Given the description of an element on the screen output the (x, y) to click on. 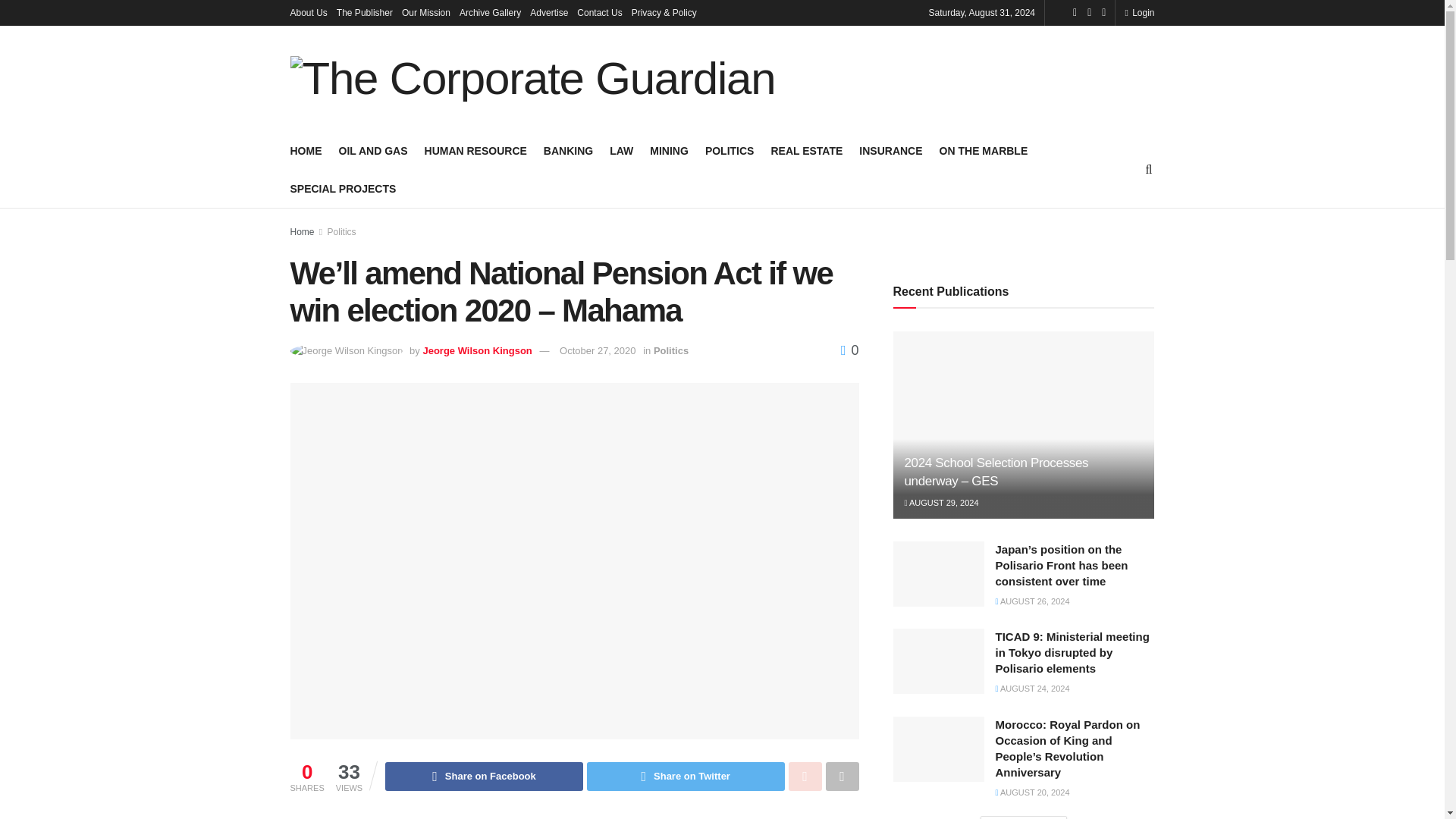
OIL AND GAS (372, 150)
About Us (307, 12)
Login (1139, 12)
HUMAN RESOURCE (476, 150)
Contact Us (598, 12)
Our Mission (425, 12)
LAW (621, 150)
Advertise (548, 12)
BANKING (567, 150)
HOME (305, 150)
